Given the description of an element on the screen output the (x, y) to click on. 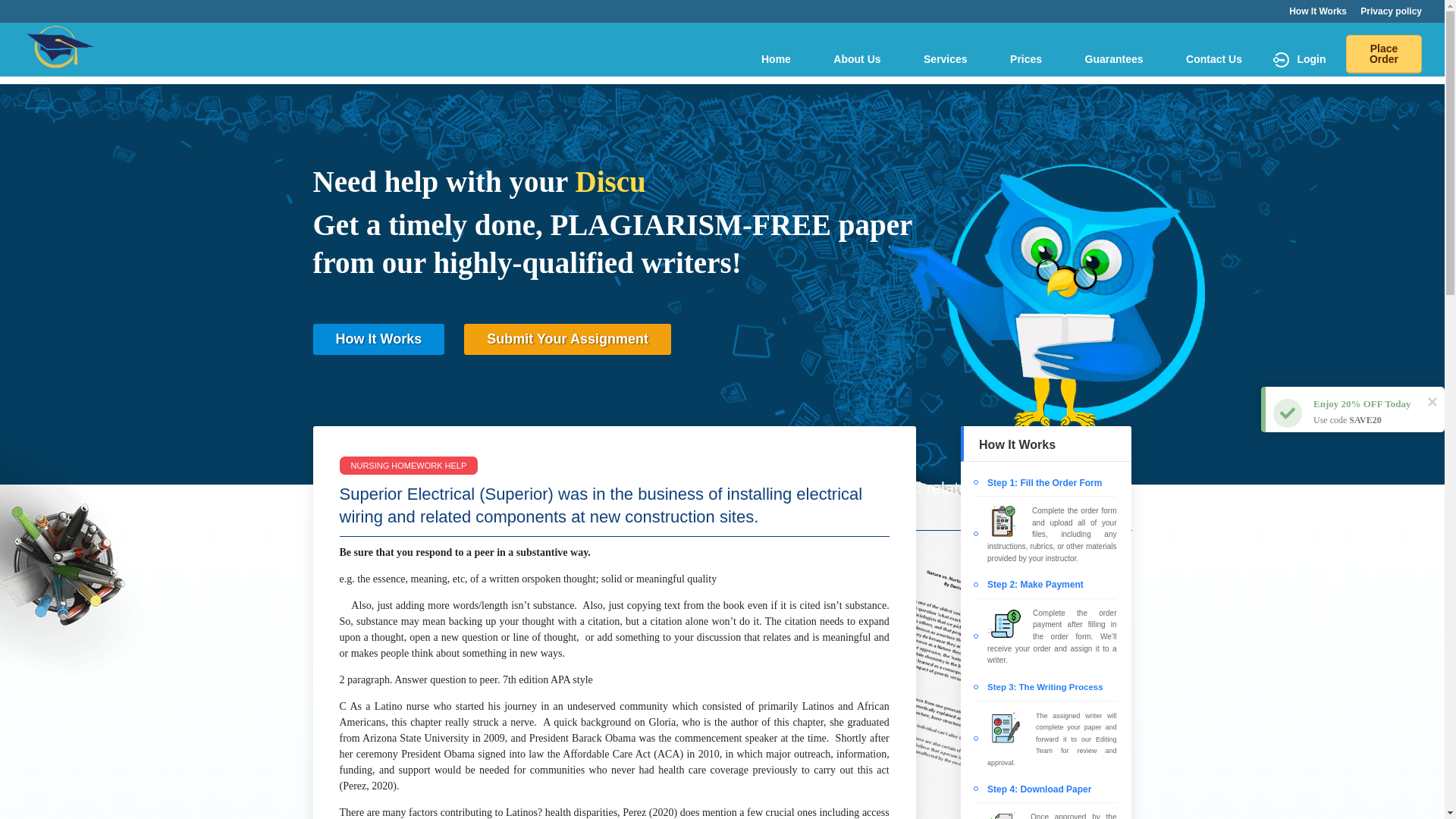
Services (945, 58)
Prices (1025, 58)
How It Works (378, 338)
NURSING HOMEWORK HELP (409, 465)
Login (1298, 65)
NURSING HOMEWORK HELP (722, 550)
Guarantees (1114, 58)
About Us (856, 58)
Privacy policy (1390, 14)
Submit Your Assignment (567, 338)
